Given the description of an element on the screen output the (x, y) to click on. 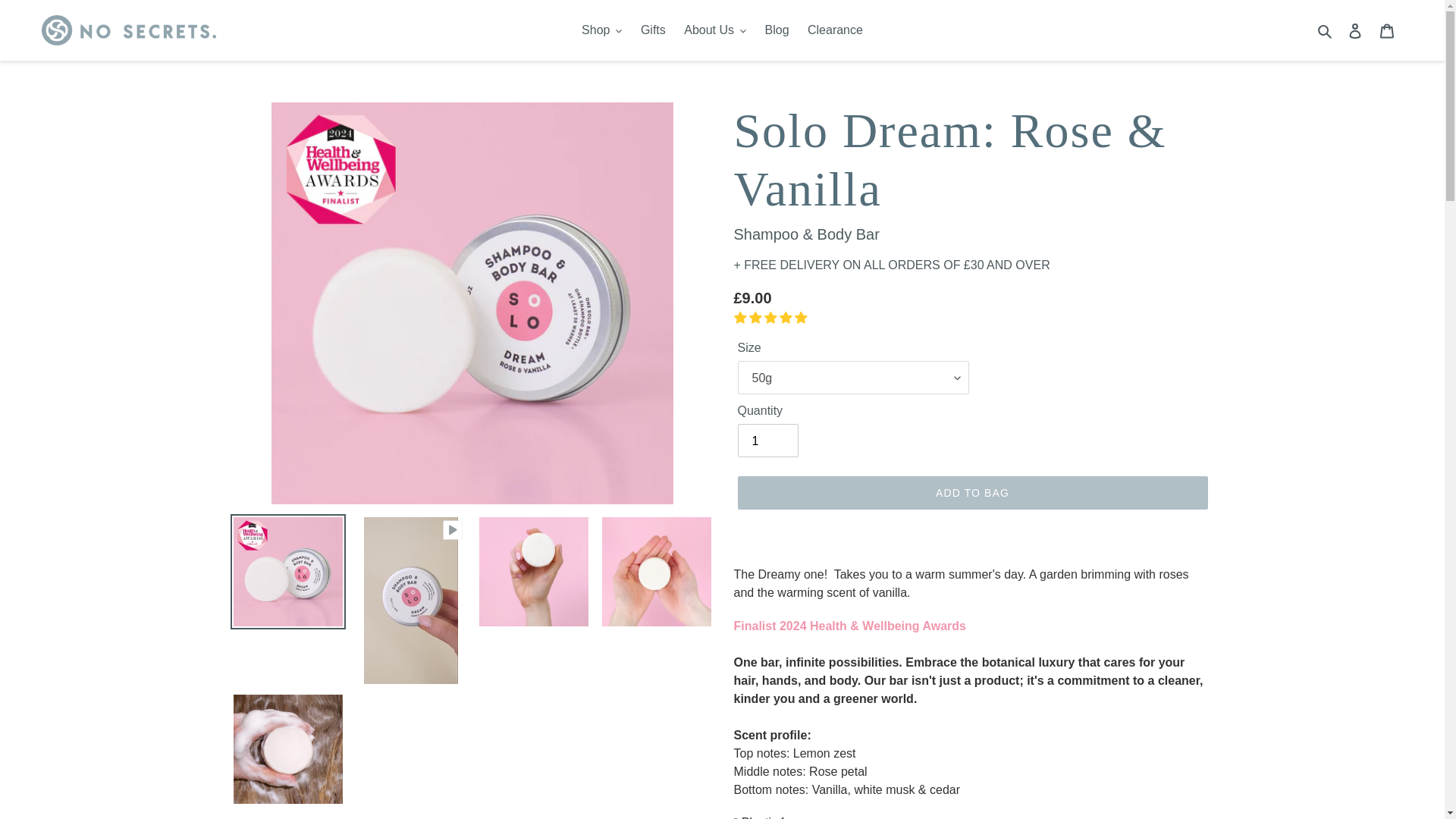
Blog (776, 29)
1 (766, 440)
Log in (1355, 29)
Search (1326, 30)
Cart (1387, 29)
About Us (715, 29)
Clearance (834, 29)
Gifts (652, 29)
Shop (600, 29)
